Given the description of an element on the screen output the (x, y) to click on. 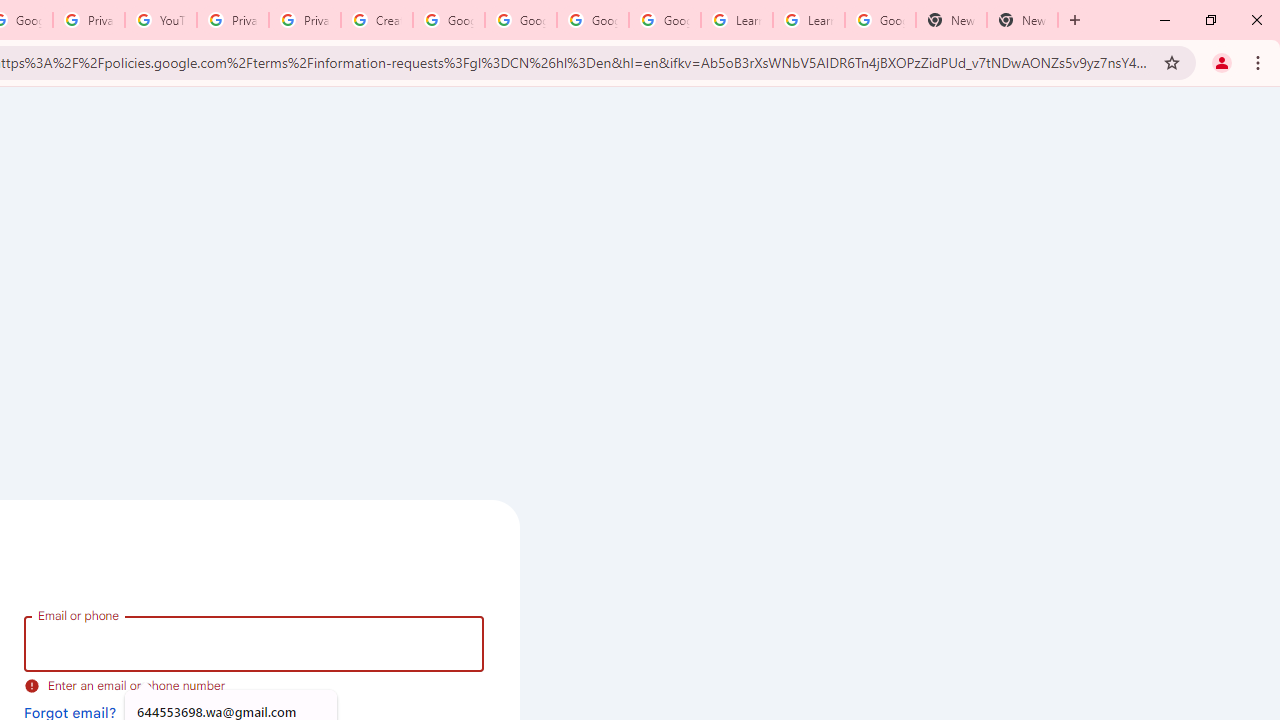
Google Account (880, 20)
Google Account Help (520, 20)
New Tab (1022, 20)
Google Account Help (449, 20)
